Given the description of an element on the screen output the (x, y) to click on. 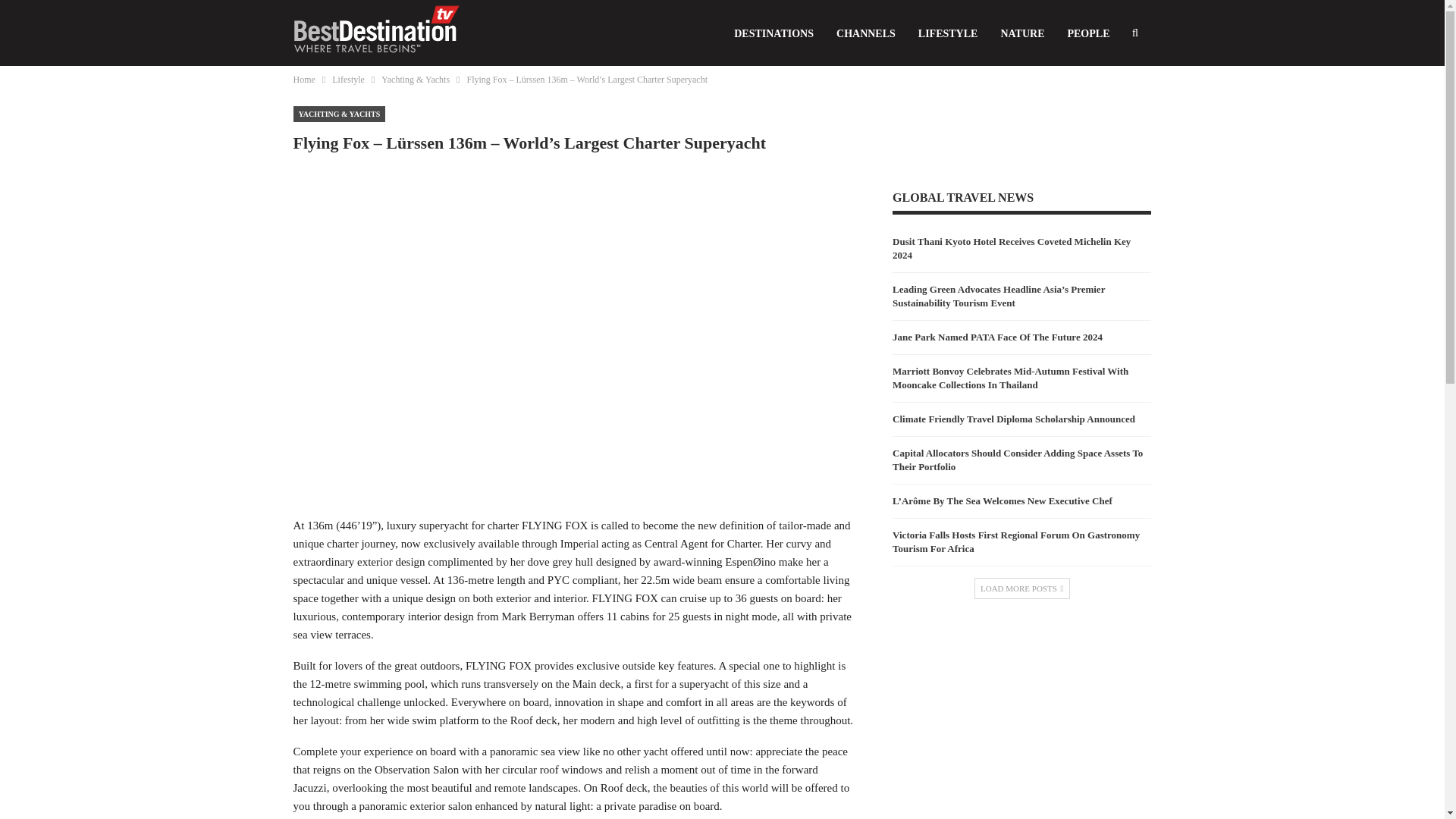
LIFESTYLE (948, 33)
Load More Posts (1022, 588)
CHANNELS (866, 33)
DESTINATIONS (773, 33)
